Given the description of an element on the screen output the (x, y) to click on. 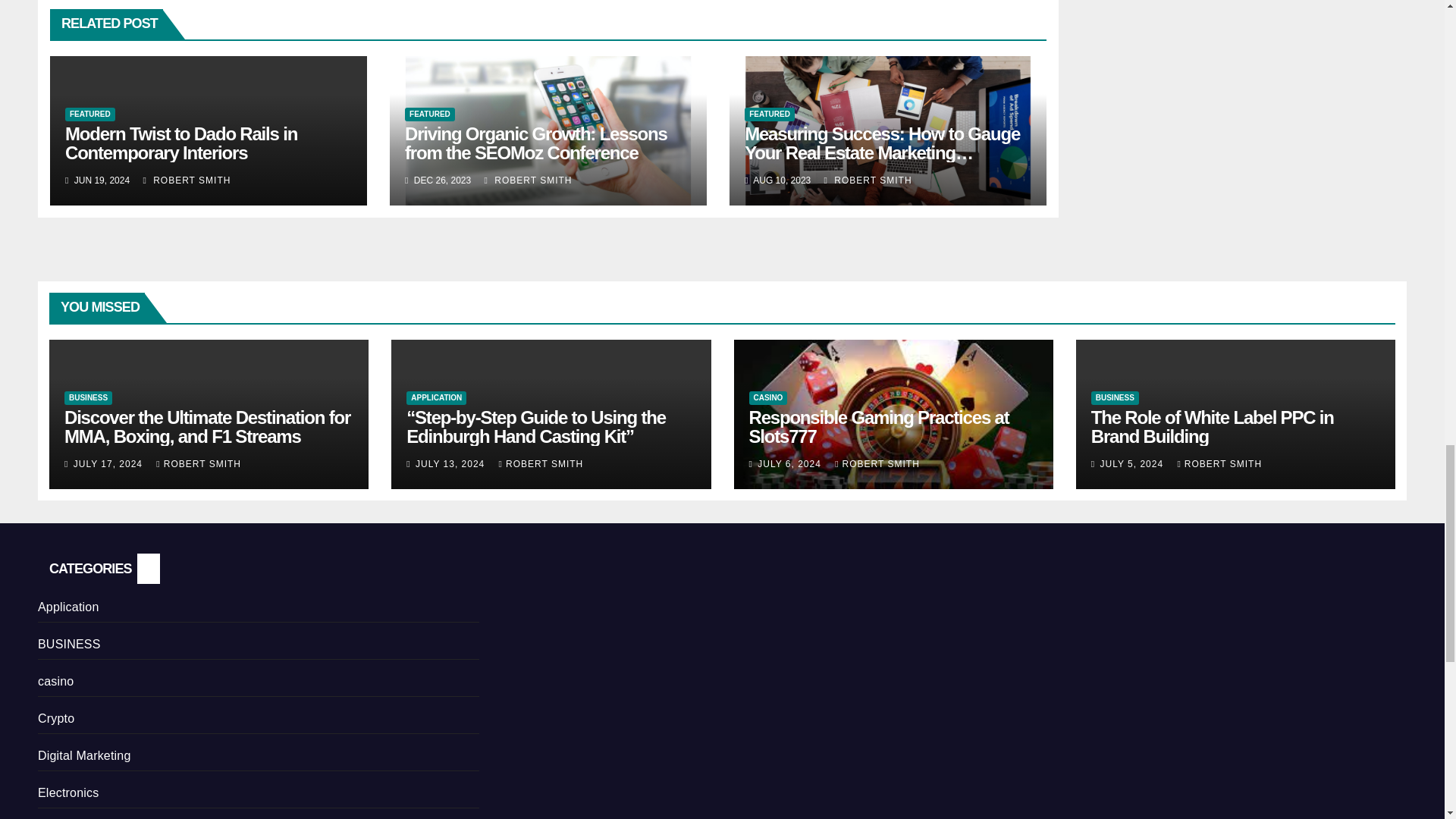
Permalink to: The Role of White Label PPC in Brand Building (1211, 426)
FEATURED (429, 114)
Driving Organic Growth: Lessons from the SEOMoz Conference (535, 142)
Permalink to: Responsible Gaming Practices at Slots777 (879, 426)
BUSINESS (88, 397)
FEATURED (769, 114)
ROBERT SMITH (528, 180)
FEATURED (90, 114)
Modern Twist to Dado Rails in Contemporary Interiors (181, 142)
ROBERT SMITH (186, 180)
ROBERT SMITH (868, 180)
